Given the description of an element on the screen output the (x, y) to click on. 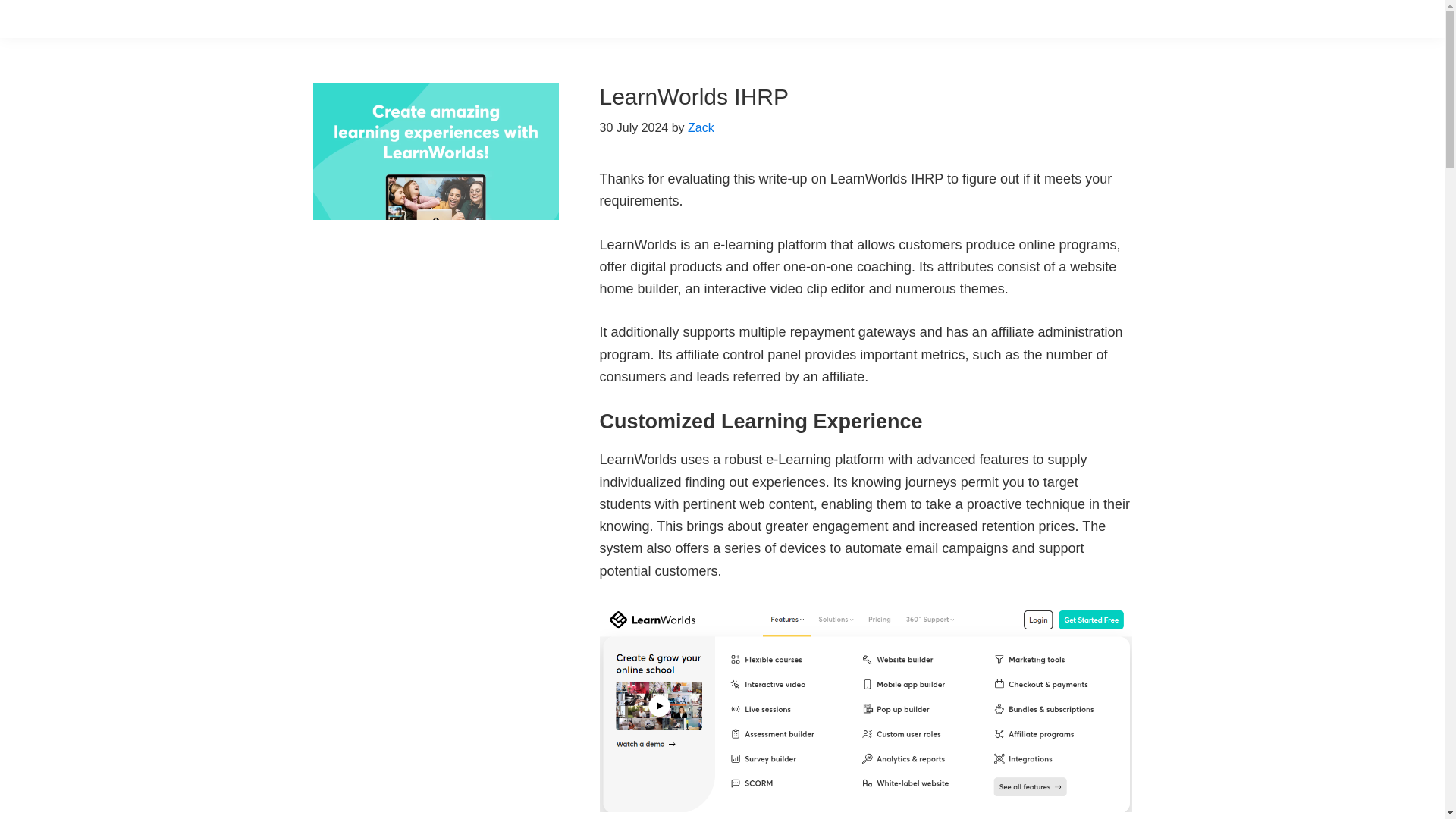
Zack (700, 127)
